Given the description of an element on the screen output the (x, y) to click on. 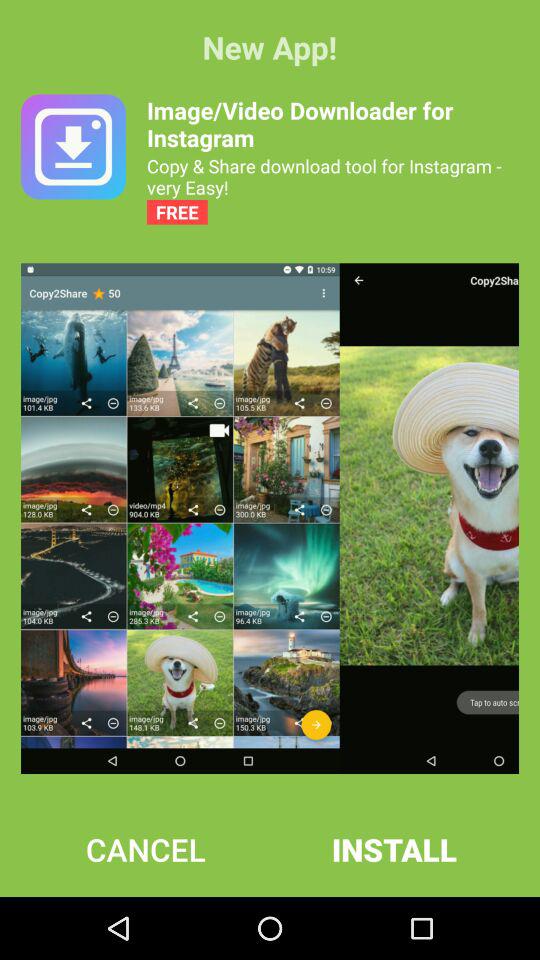
choose the icon at the bottom left corner (145, 849)
